Given the description of an element on the screen output the (x, y) to click on. 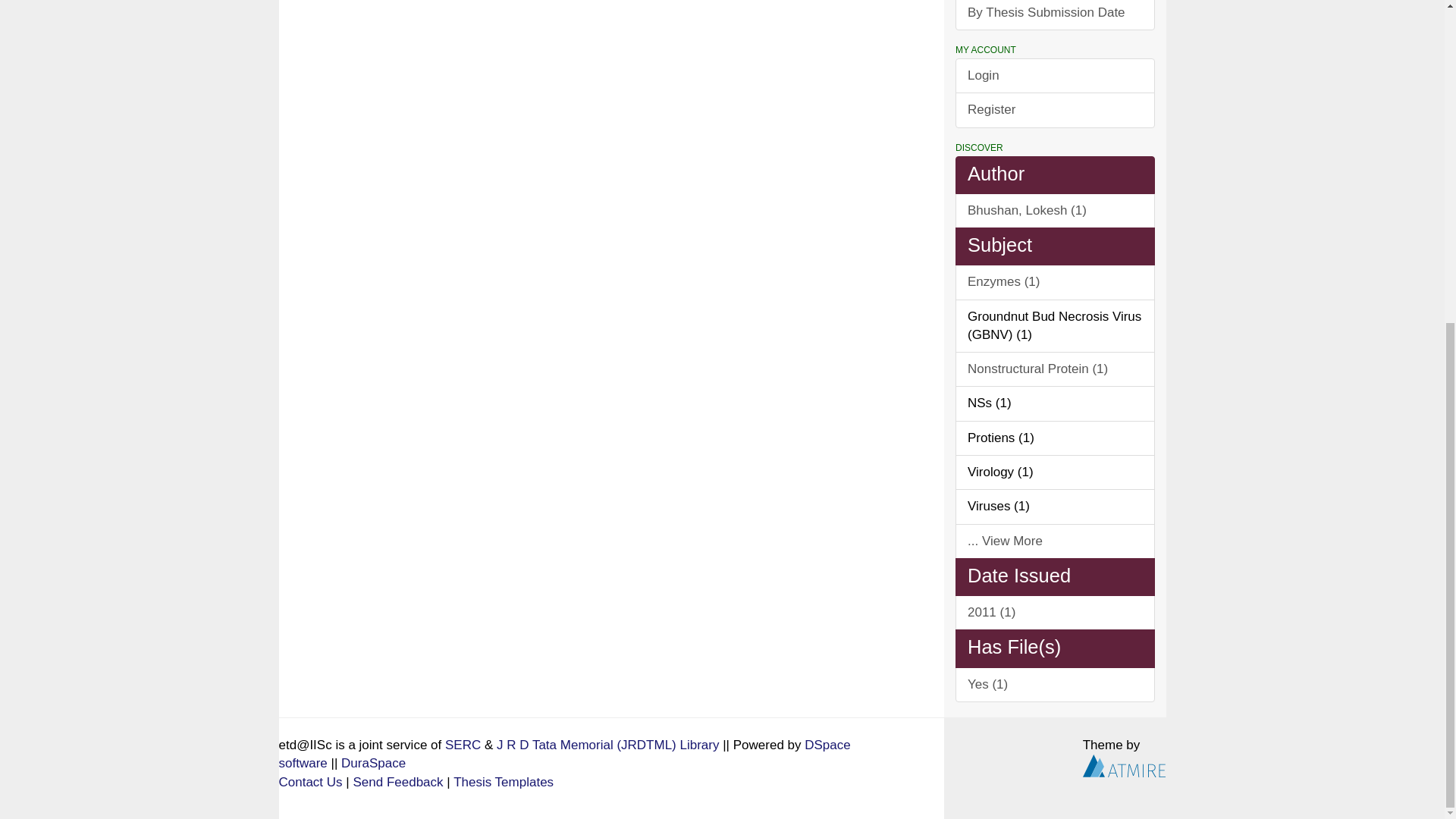
Atmire NV (1124, 765)
